Given the description of an element on the screen output the (x, y) to click on. 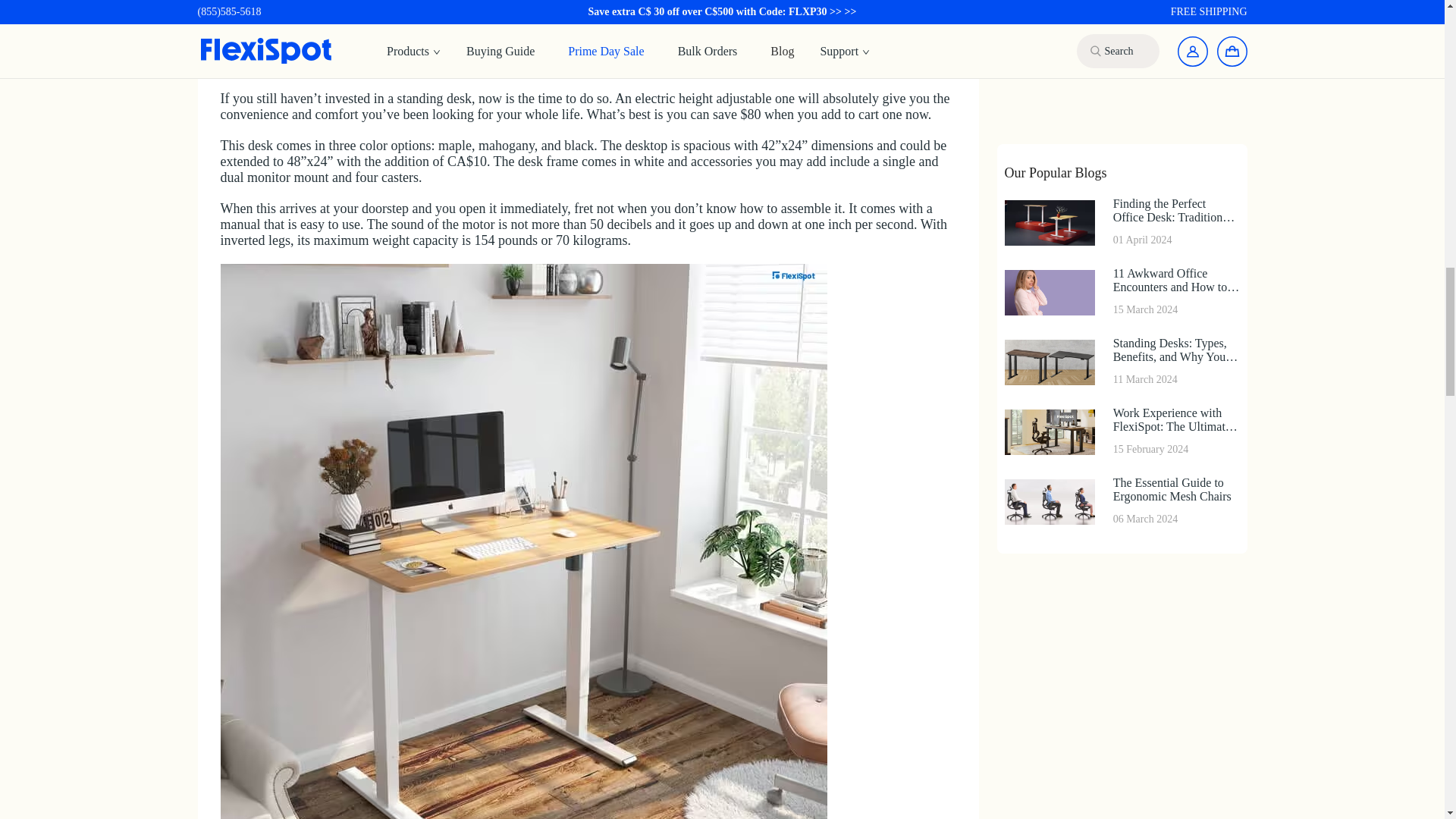
EG1-42"W Electric Height Adjustable Standing Desk (523, 6)
